Given the description of an element on the screen output the (x, y) to click on. 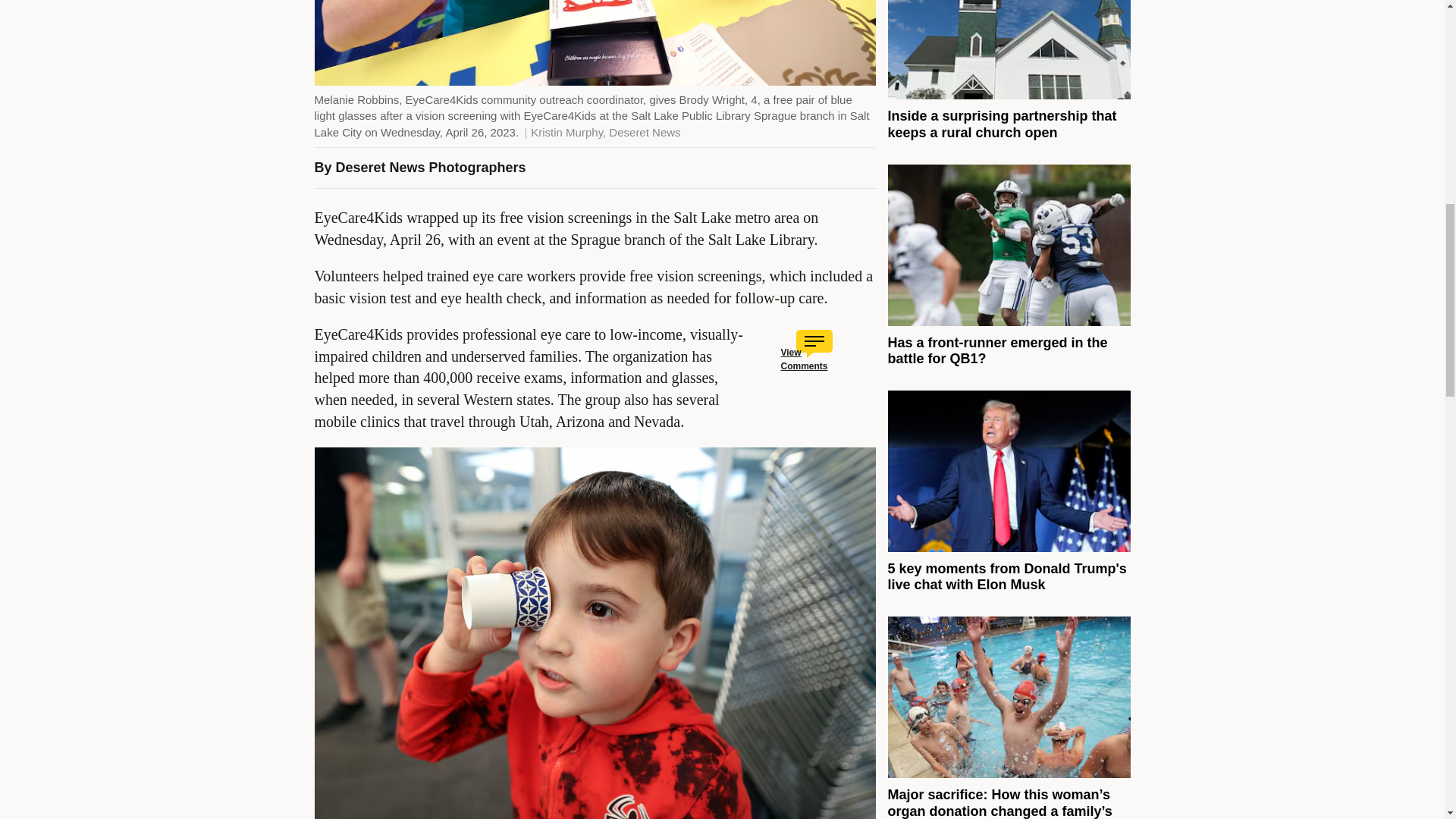
Has a front-runner emerged in the battle for QB1? (996, 350)
Deseret News Photographers (430, 167)
5 key moments from Donald Trump's live chat with Elon Musk (1005, 576)
